Given the description of an element on the screen output the (x, y) to click on. 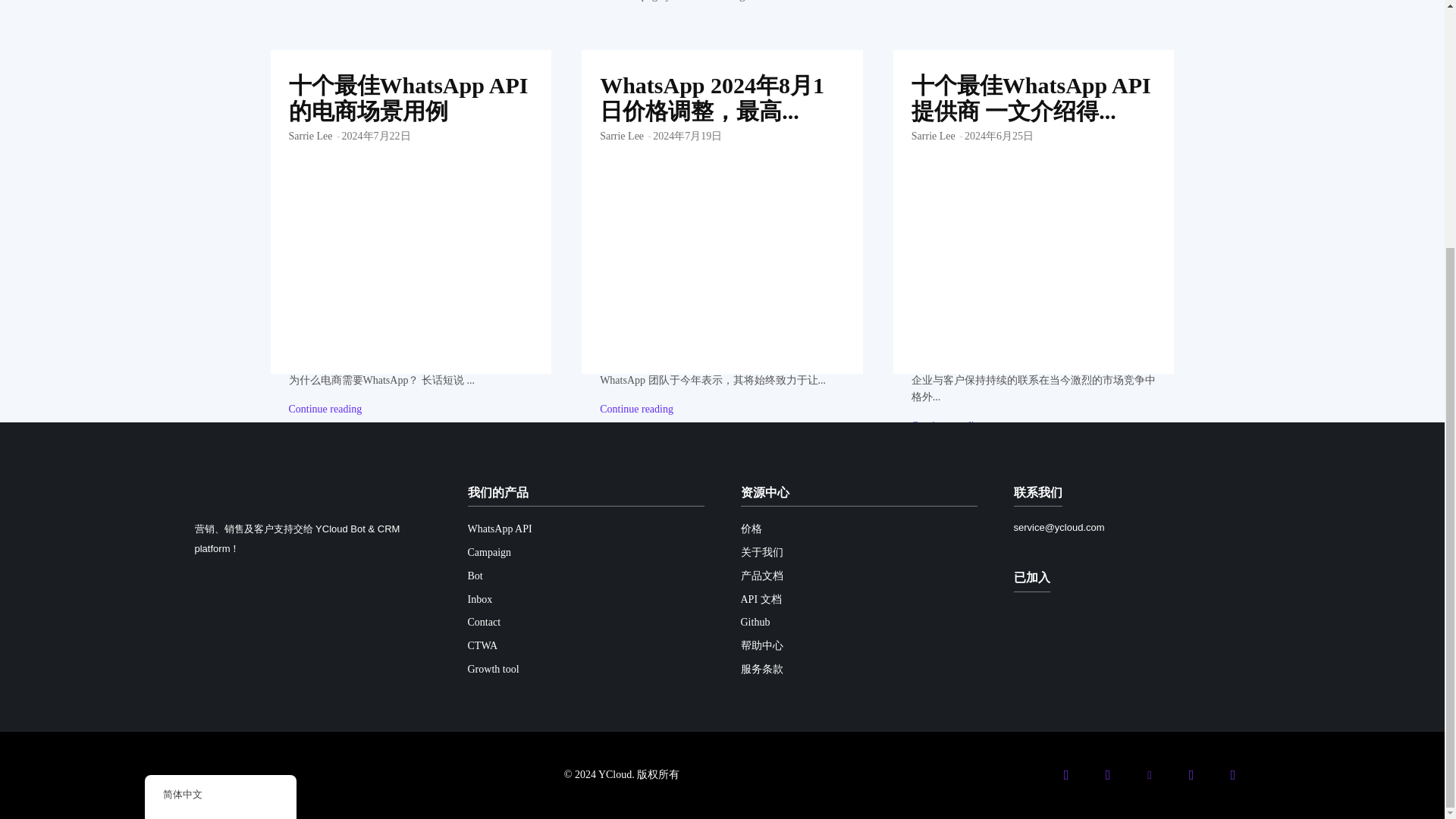
Campaign (585, 553)
WhatsApp API (585, 529)
Bot (585, 576)
Continue reading (635, 409)
Continue reading (635, 409)
Sarrie Lee (933, 135)
Continue reading (324, 409)
Continue reading (324, 409)
Inbox (585, 599)
CTWA (585, 646)
Contact (585, 622)
Continue reading (948, 425)
Sarrie Lee (309, 135)
Sarrie Lee (621, 135)
